Given the description of an element on the screen output the (x, y) to click on. 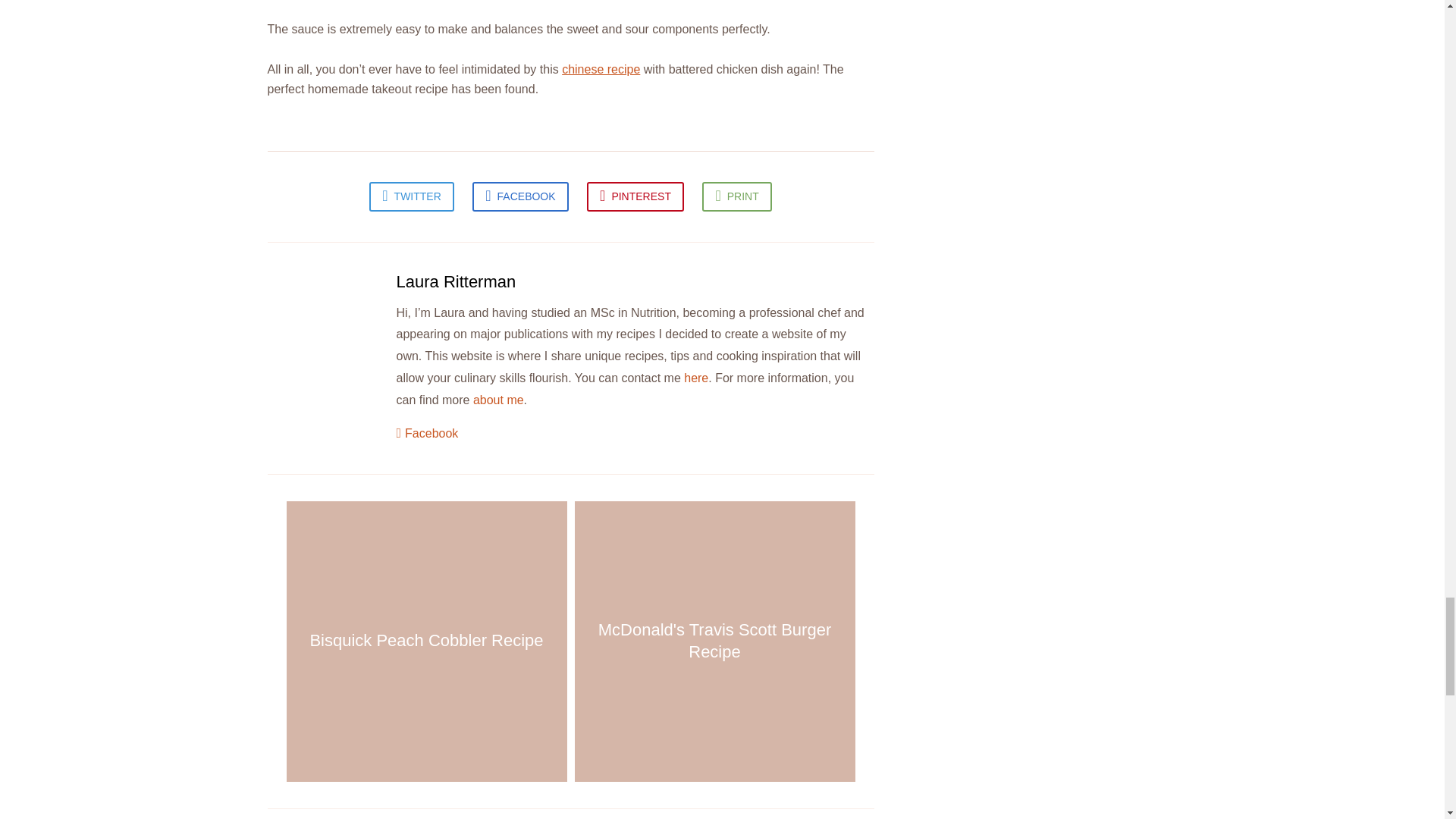
Tweet this on Twitter (411, 196)
Pin it to Pinterest (635, 196)
Share this on Facebook (519, 196)
Print this Page (736, 196)
